Given the description of an element on the screen output the (x, y) to click on. 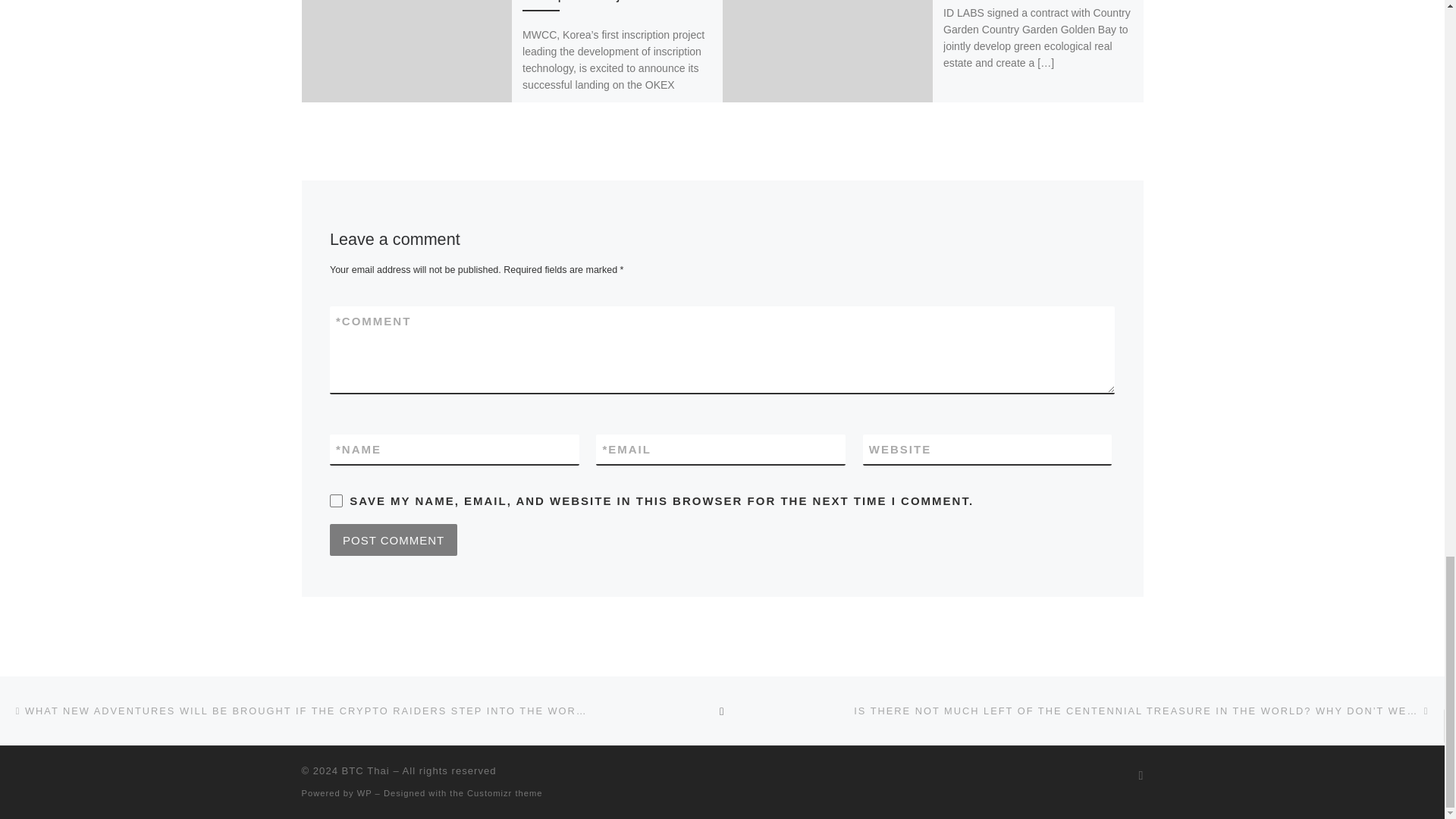
yes (336, 500)
Customizr theme (505, 792)
Powered by WordPress (364, 792)
Post Comment (393, 540)
Post Comment (393, 540)
BTC Thai (366, 770)
